Given the description of an element on the screen output the (x, y) to click on. 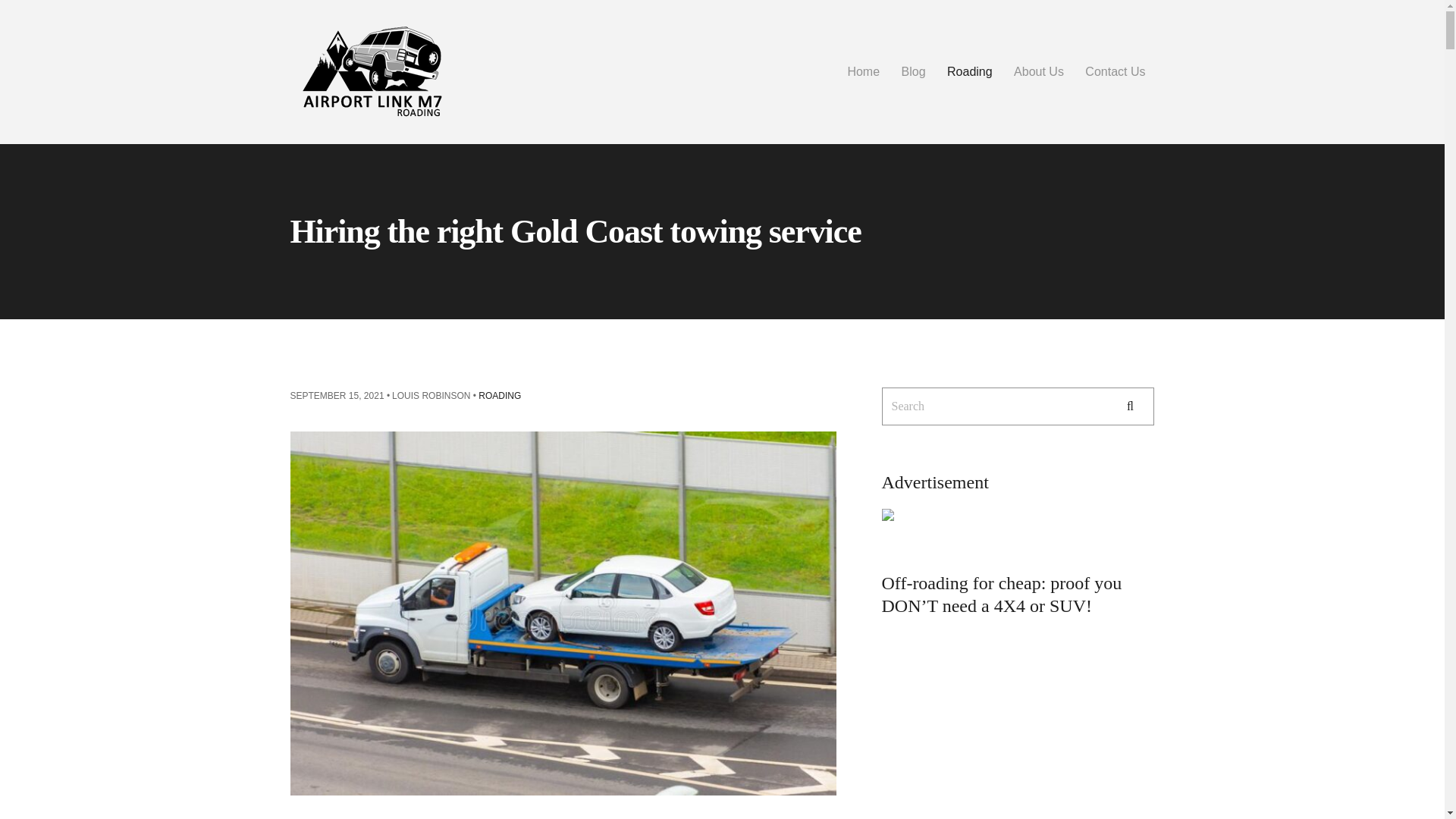
Search (1129, 406)
Contact Us (1114, 71)
Blog (913, 71)
Roading (969, 71)
Home (863, 71)
ROADING (500, 395)
About Us (1038, 71)
